Given the description of an element on the screen output the (x, y) to click on. 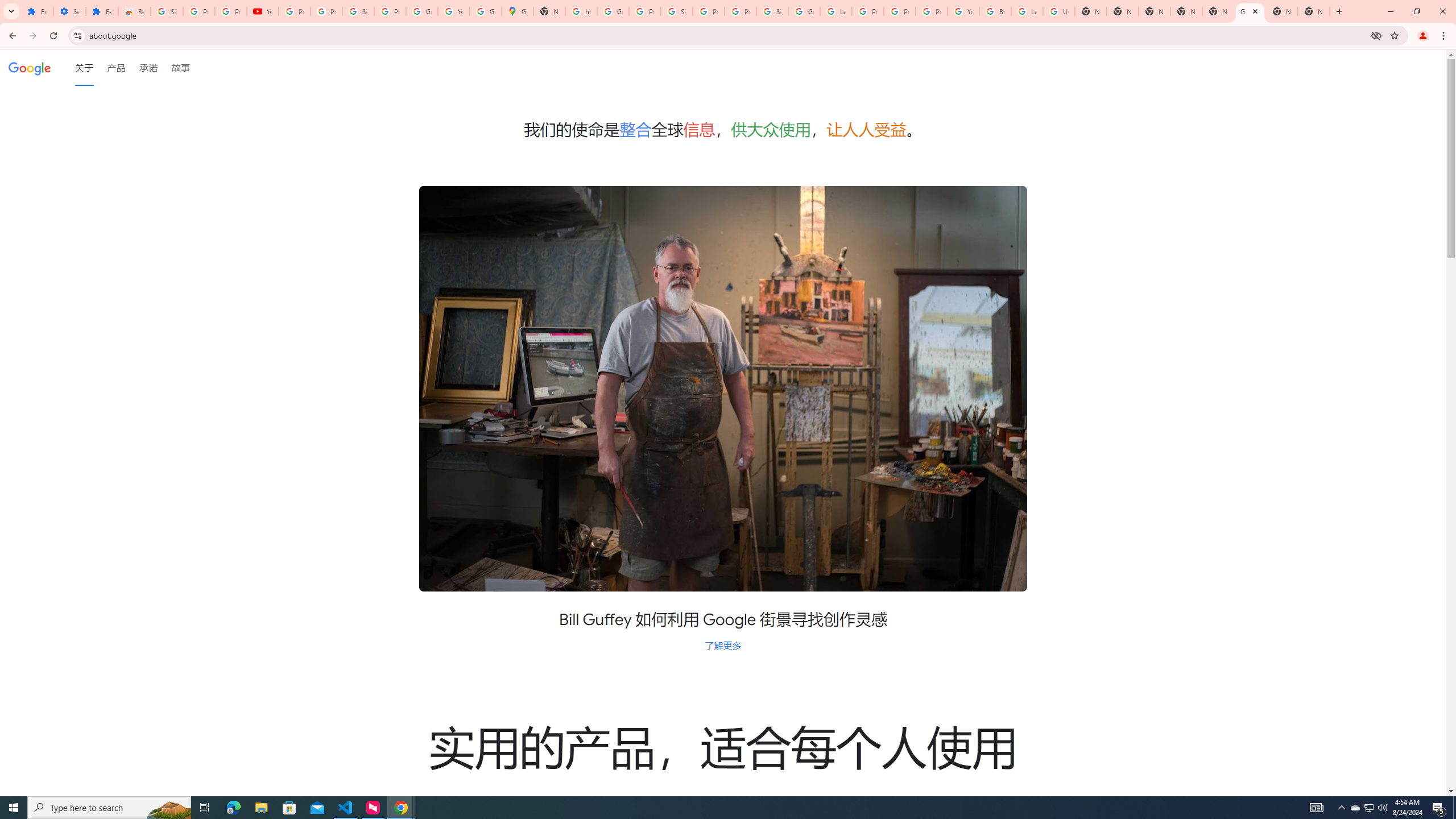
YouTube (453, 11)
Sign in - Google Accounts (772, 11)
YouTube (262, 11)
Settings (69, 11)
Sign in - Google Accounts (166, 11)
